Given the description of an element on the screen output the (x, y) to click on. 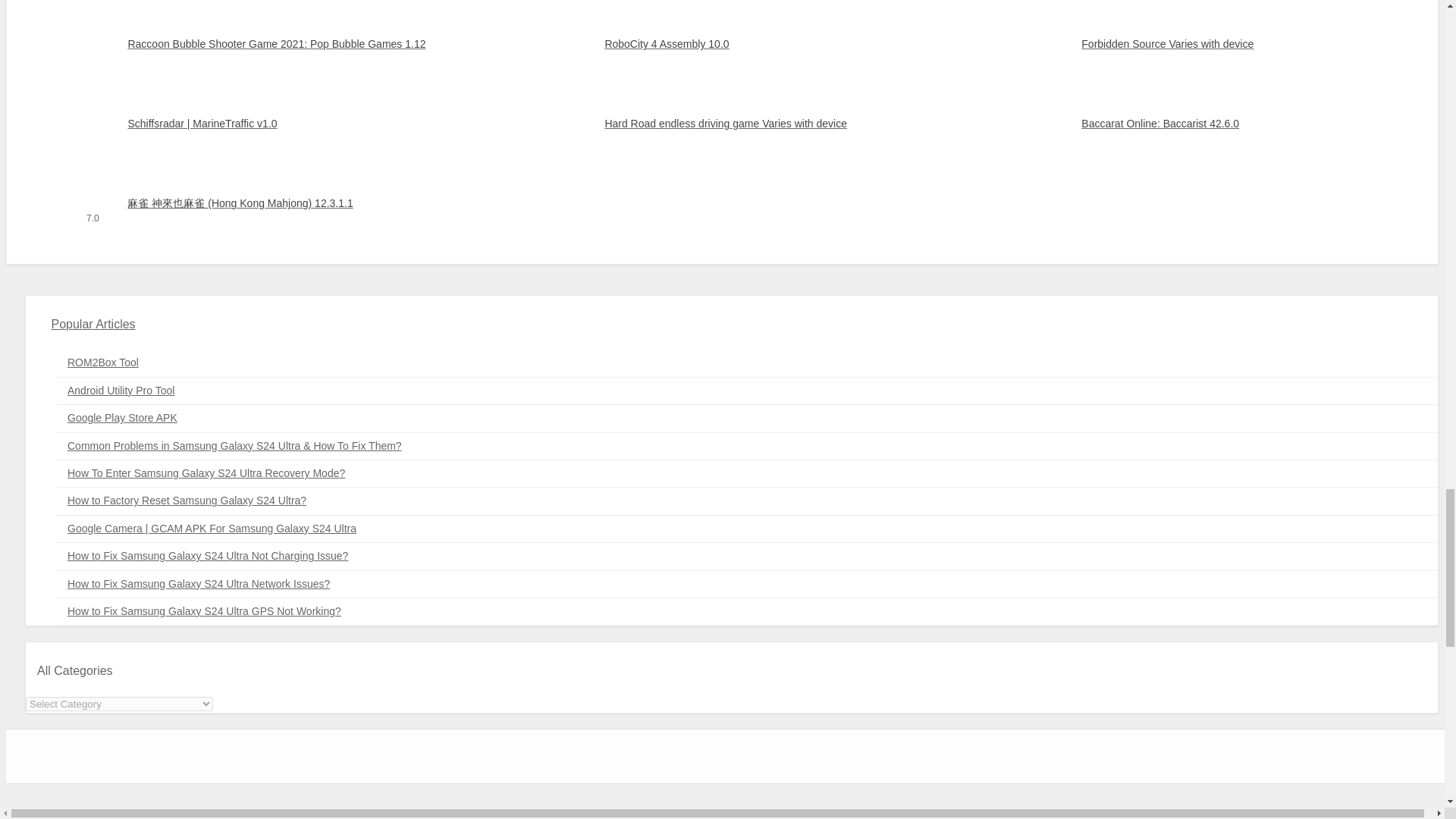
Raccoon Bubble Shooter Game 2021: Pop Bubble Games 1.12 (244, 44)
Popular Articles (92, 323)
RoboCity 4 Assembly 10.0 (722, 44)
Hard Road endless driving game Varies with device (722, 123)
Forbidden Source Varies with device (1199, 44)
Baccarat Online: Baccarist 42.6.0 (1199, 123)
